Given the description of an element on the screen output the (x, y) to click on. 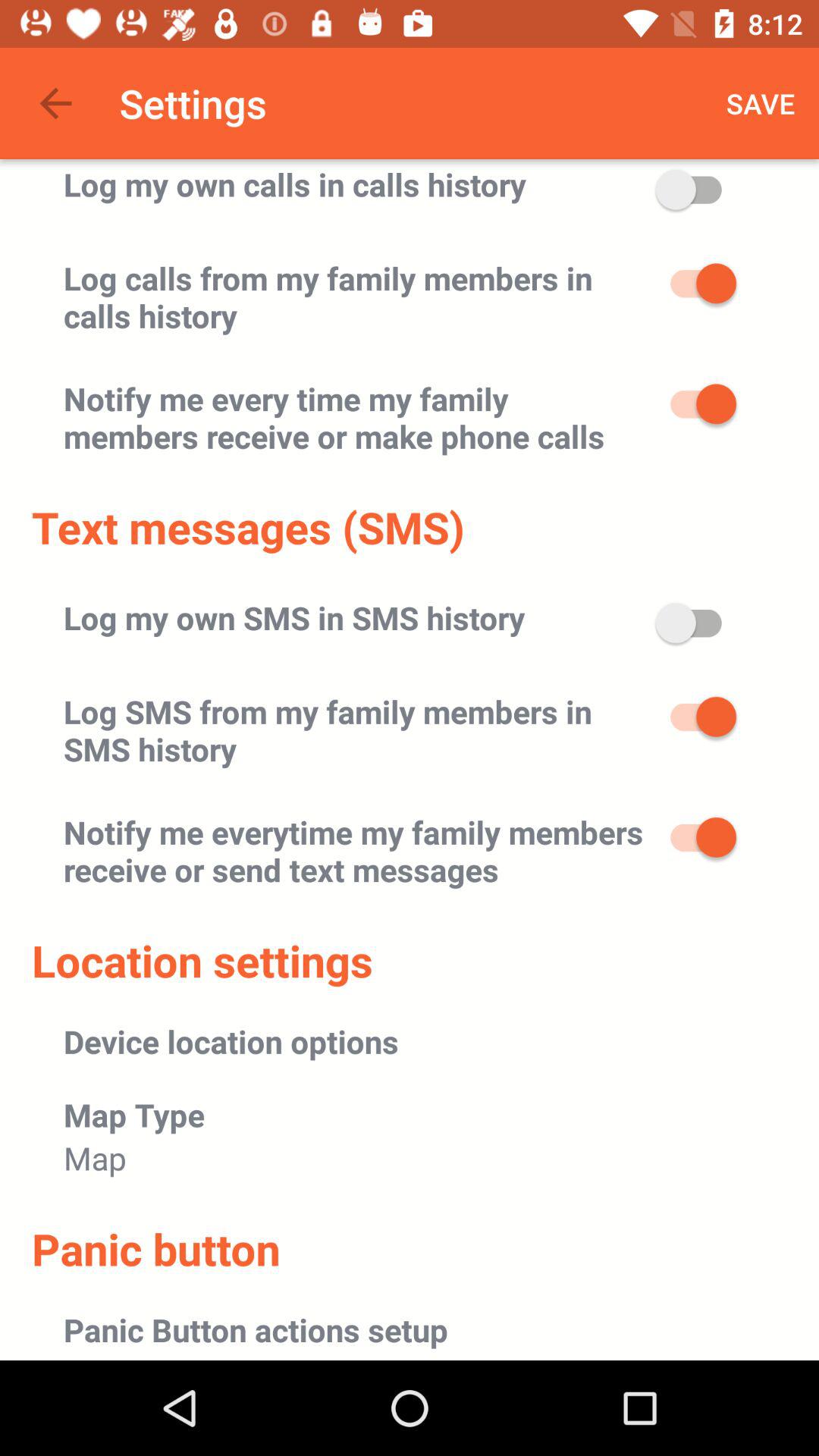
tap device location options icon (230, 1040)
